Given the description of an element on the screen output the (x, y) to click on. 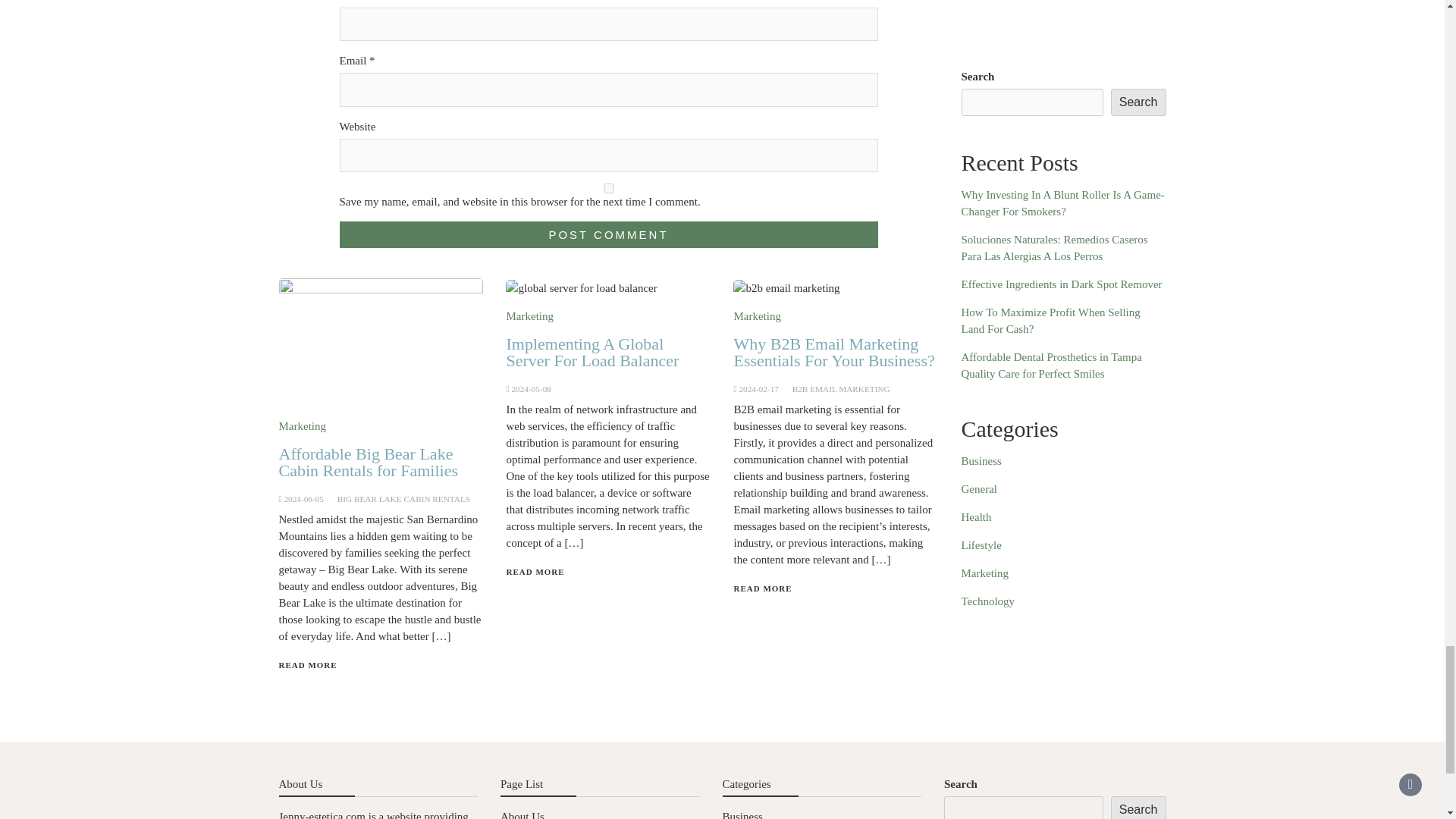
BIG BEAR LAKE CABIN RENTALS (403, 498)
Post Comment (608, 234)
2024-06-05 (303, 498)
READ MORE (308, 664)
Affordable Big Bear Lake Cabin Rentals for Families (368, 461)
Post Comment (608, 234)
Marketing (302, 426)
yes (608, 188)
Marketing (529, 316)
